Given the description of an element on the screen output the (x, y) to click on. 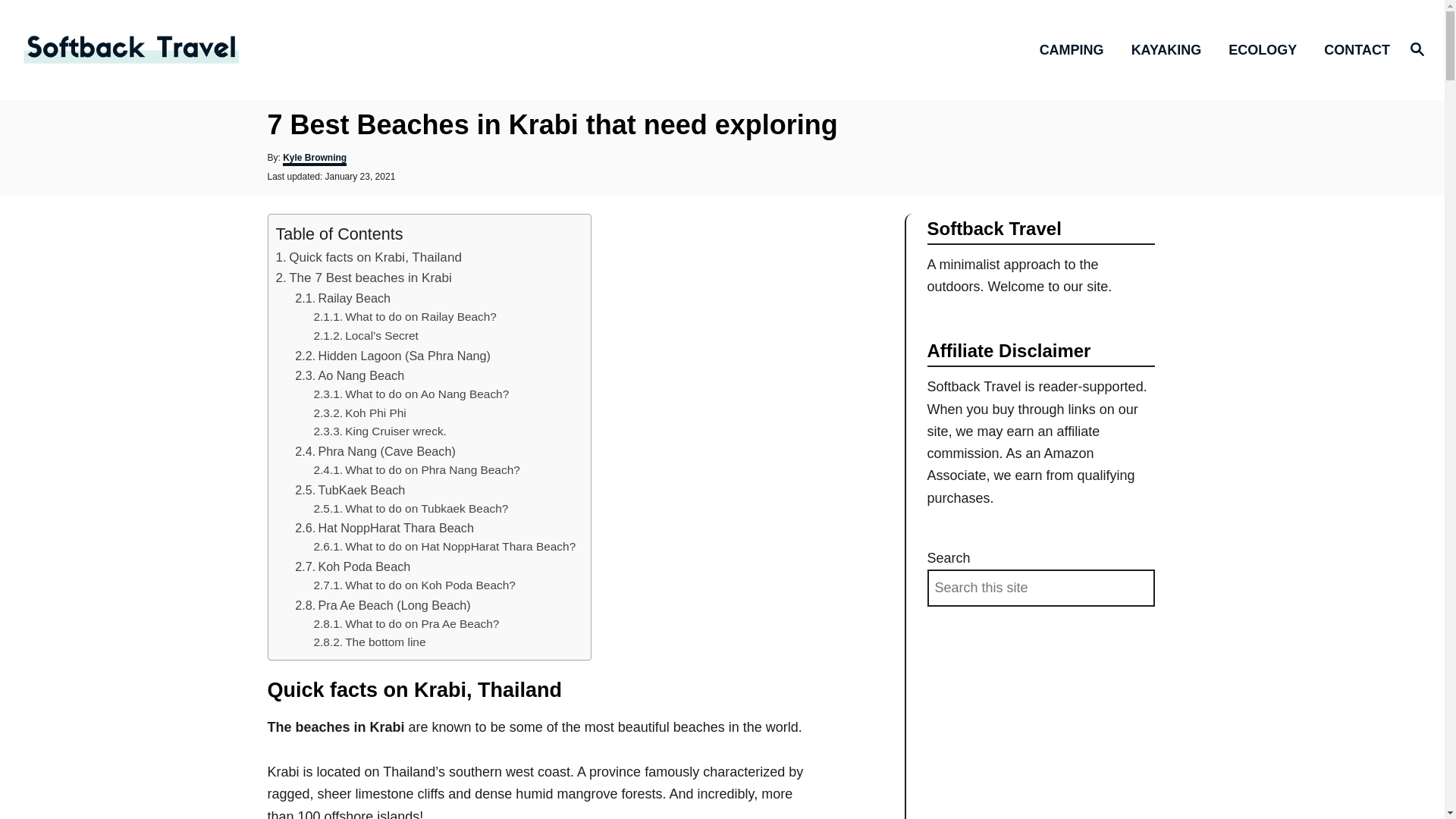
What to do on Pra Ae Beach? (422, 623)
What to do on Railay Beach? (420, 316)
Quick facts on Krabi, Thailand (374, 257)
TubKaek Beach (360, 489)
King Cruiser wreck. (395, 431)
Railay Beach (353, 297)
The 7 Best beaches in Krabi (369, 278)
Quick facts on Krabi, Thailand (374, 257)
What to do on Hat NoppHarat Thara Beach? (460, 545)
Ao Nang Beach  (360, 375)
Magnifying Glass (1416, 48)
Kyle Browning (314, 159)
The 7 Best beaches in Krabi (369, 278)
Softback Travel (187, 49)
What to do on Ao Nang Beach? (426, 393)
